Given the description of an element on the screen output the (x, y) to click on. 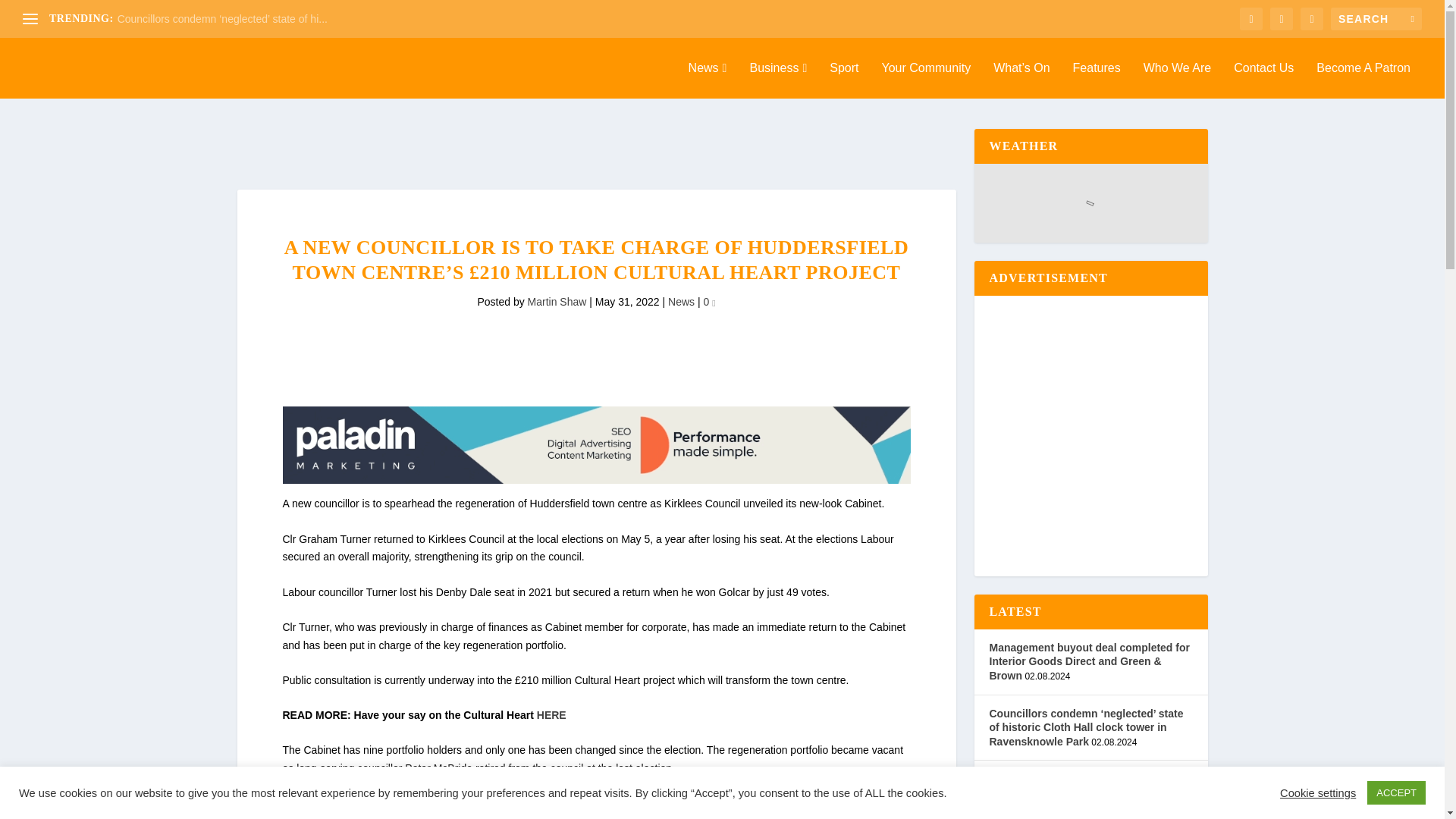
News (707, 80)
Become A Patron (1363, 80)
Business (777, 80)
Your Community (925, 80)
Posts by Martin Shaw (556, 301)
Who We Are (1176, 80)
Features (1097, 80)
Contact Us (1263, 80)
Search for: (1376, 18)
